Given the description of an element on the screen output the (x, y) to click on. 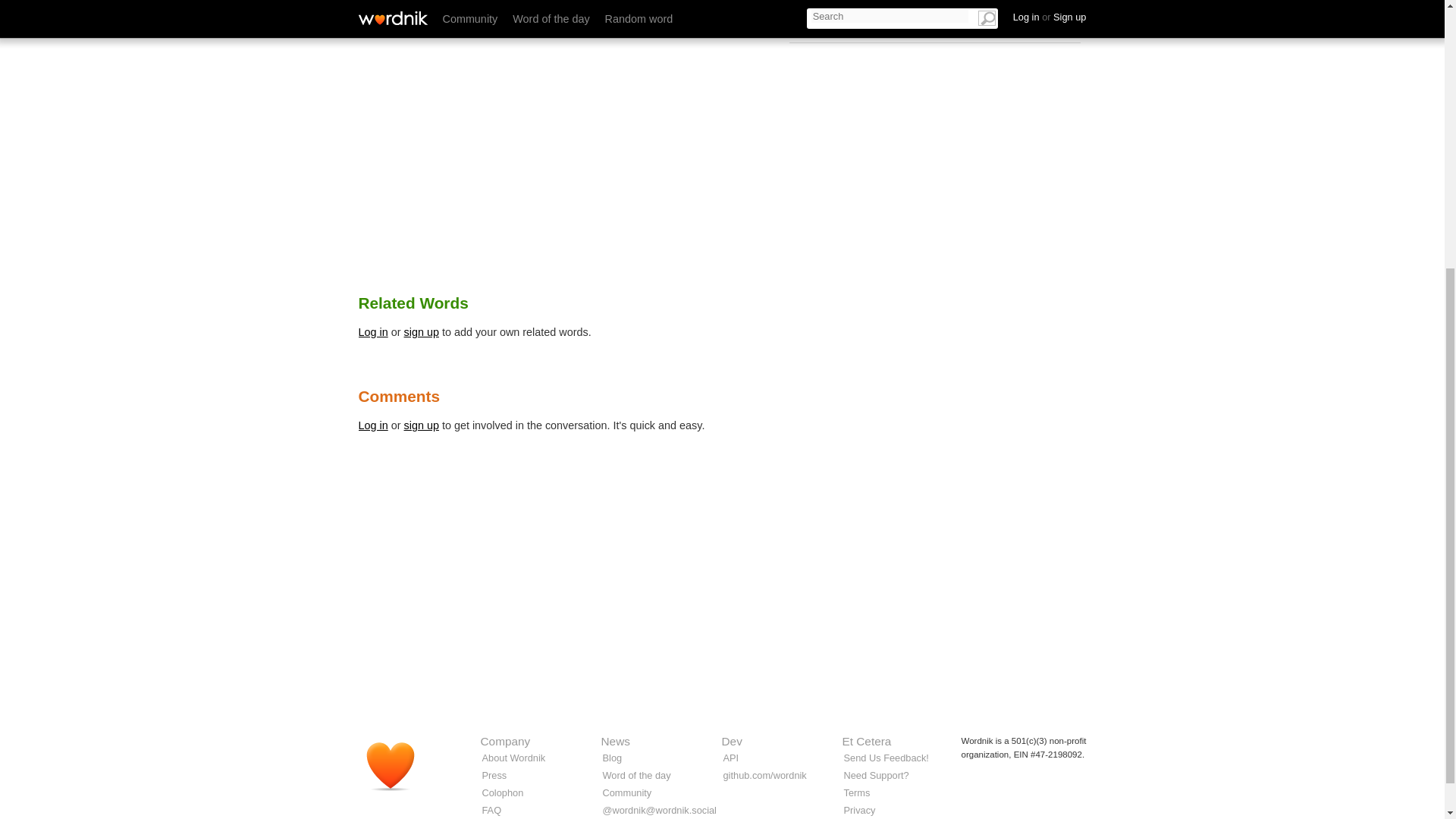
Log in (372, 331)
Dev (732, 740)
Log in (372, 425)
Press (493, 775)
News (613, 740)
FAQ (491, 809)
Wordnik Online Dictionary (397, 771)
Company (505, 740)
FAQ (491, 809)
Company (505, 740)
Word of the day (635, 775)
Colophon (502, 792)
Community (626, 792)
sign up (421, 425)
sign up (421, 331)
